Given the description of an element on the screen output the (x, y) to click on. 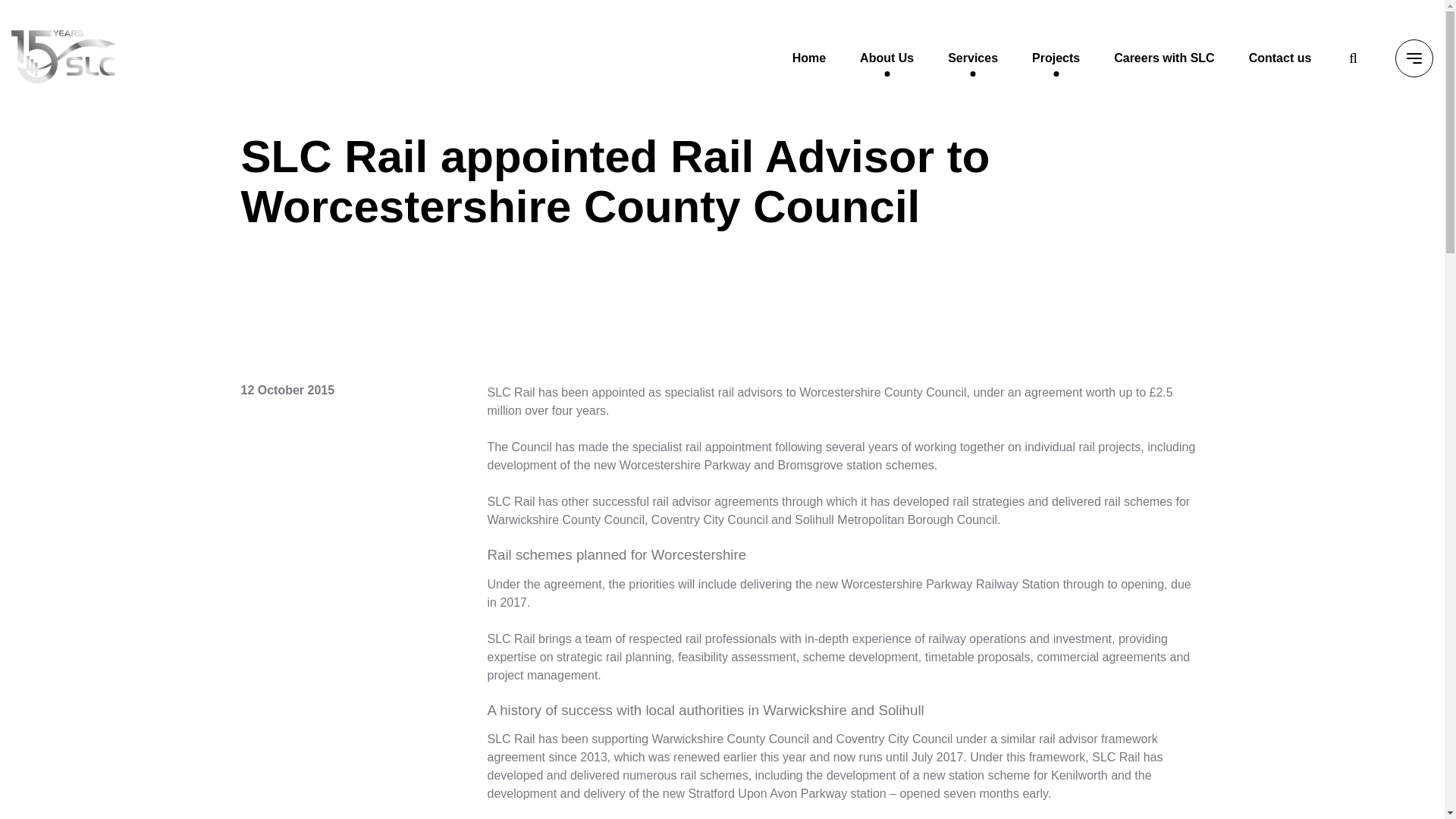
Contact us (1280, 58)
Services (972, 58)
About Us (887, 58)
Home (808, 58)
Careers with SLC (1163, 58)
Projects (1056, 58)
